Given the description of an element on the screen output the (x, y) to click on. 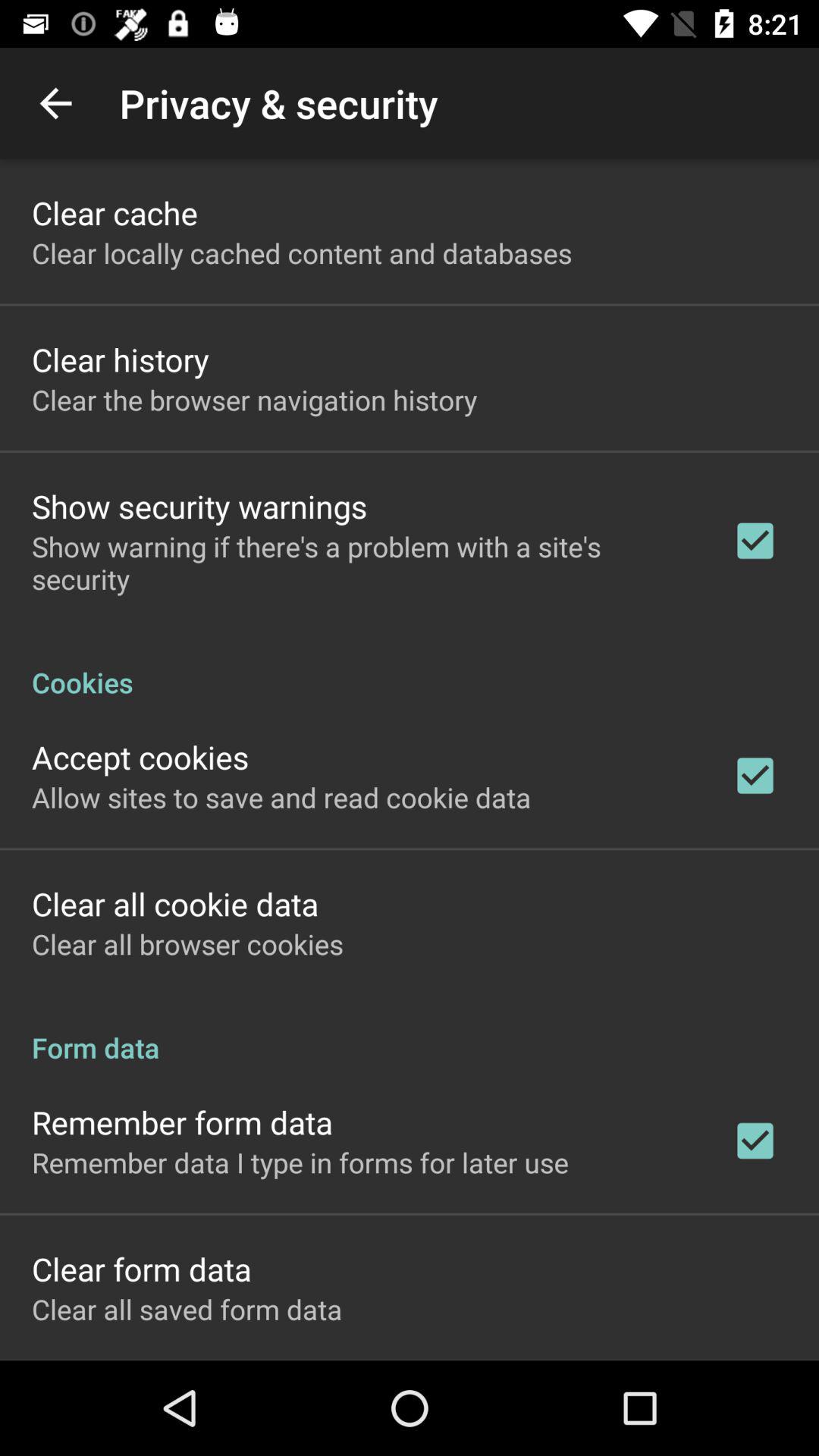
turn on the app next to the privacy & security (55, 103)
